Given the description of an element on the screen output the (x, y) to click on. 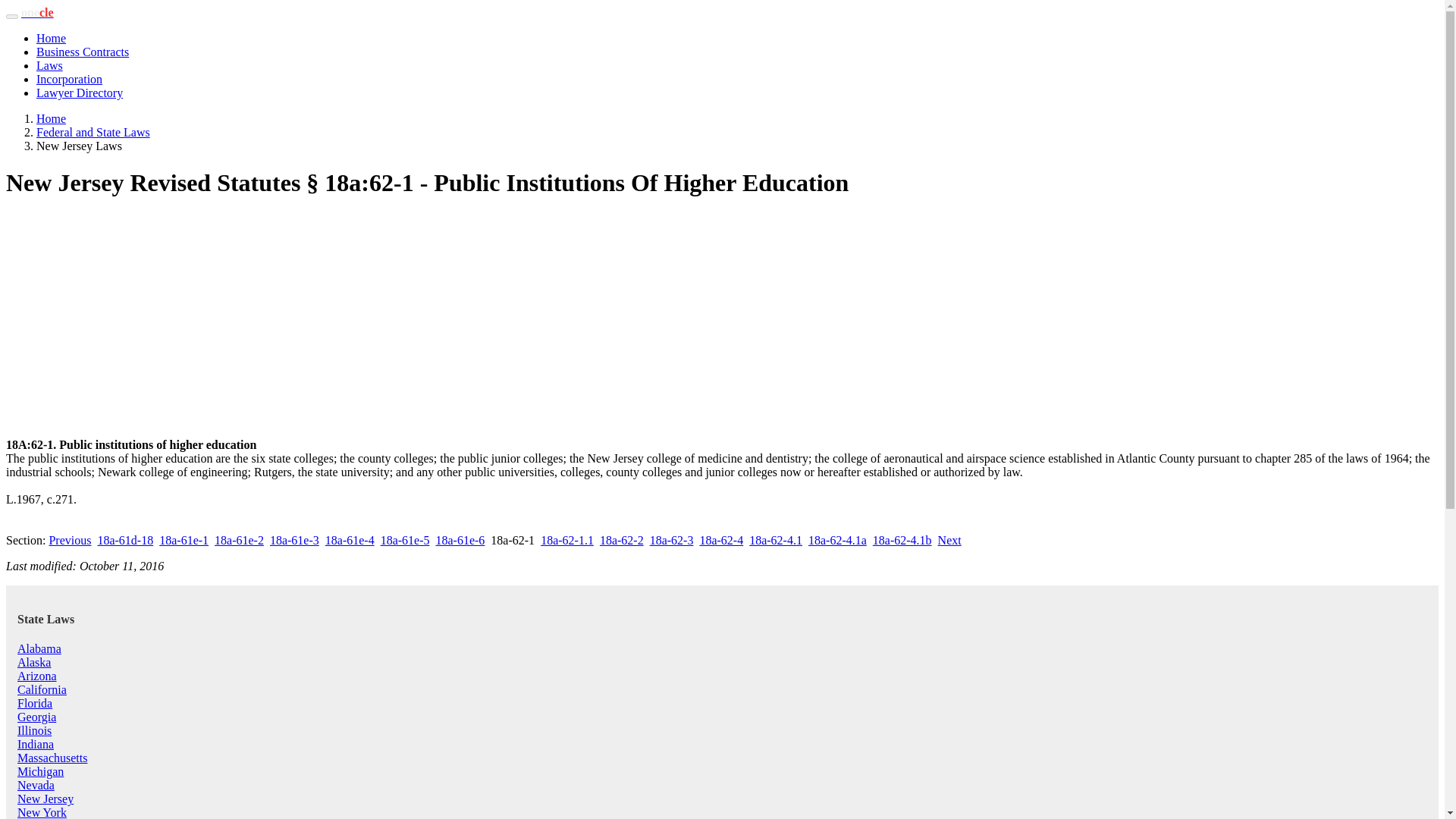
onecle (37, 11)
Incorporation (68, 78)
Illinois (33, 730)
New York (41, 812)
18a-62-3 (671, 540)
California (41, 689)
18a-61e-2 (238, 540)
Michigan (40, 771)
18a-61e-3 (293, 540)
Previous (69, 540)
18a-61e-4 (349, 540)
18a-61e-5 (404, 540)
18a-61d-18 (124, 540)
Florida (34, 703)
Next (948, 540)
